Given the description of an element on the screen output the (x, y) to click on. 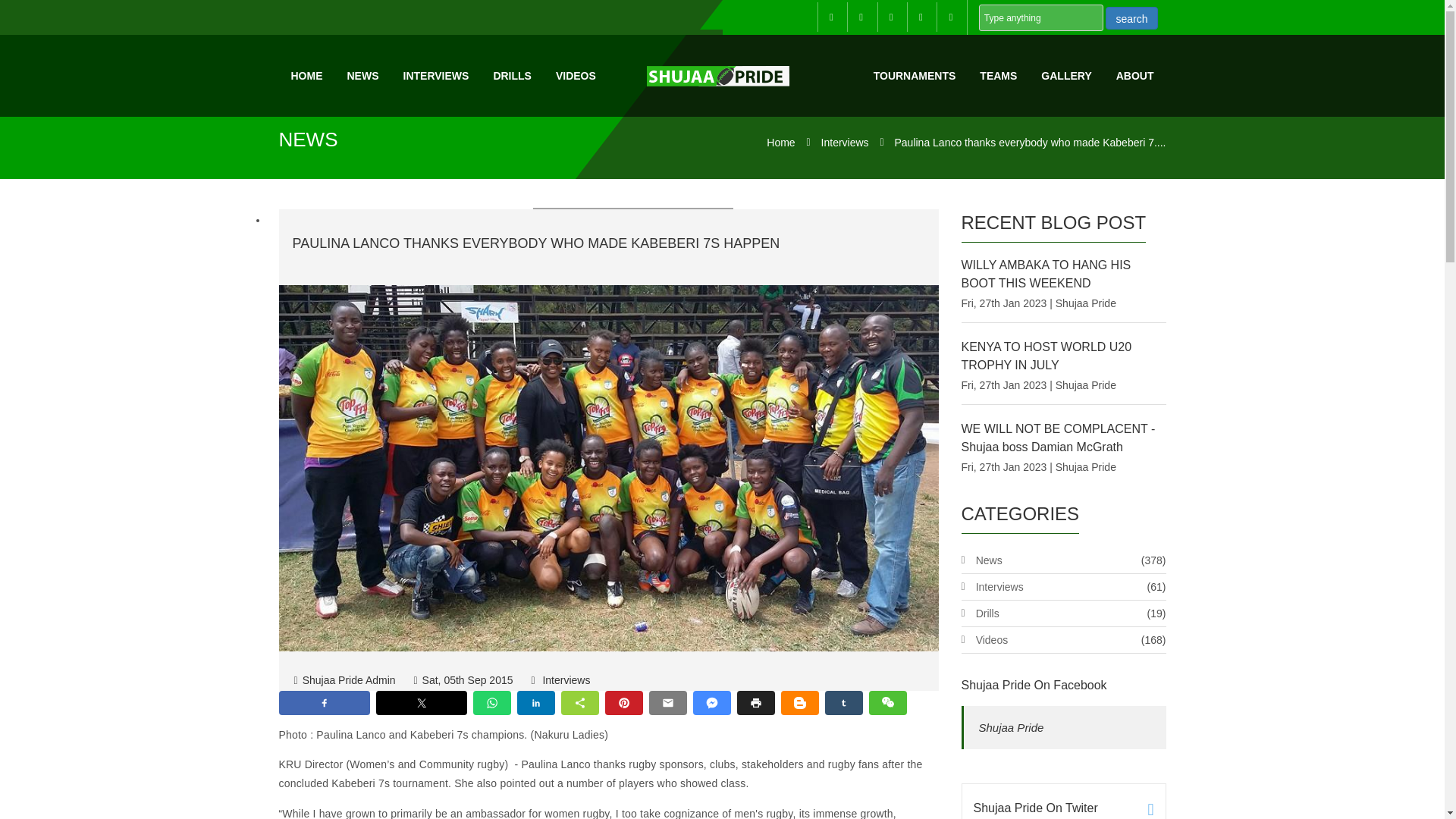
Shujaa Pride Admin (345, 680)
Home (780, 142)
HOME (306, 75)
VIDEOS (575, 75)
TEAMS (998, 75)
Sat, 05th Sep 2015 (462, 680)
PAULINA LANCO THANKS EVERYBODY WHO MADE KABEBERI 7S HAPPEN (536, 242)
TOURNAMENTS (914, 75)
Paulina Lanco thanks everybody who made Kabeberi 7.... (1029, 142)
Interviews (845, 142)
NEWS (362, 75)
search (1131, 16)
WILLY AMBAKA TO HANG HIS BOOT THIS WEEKEND (1045, 273)
GALLERY (1066, 75)
INTERVIEWS (436, 75)
